Given the description of an element on the screen output the (x, y) to click on. 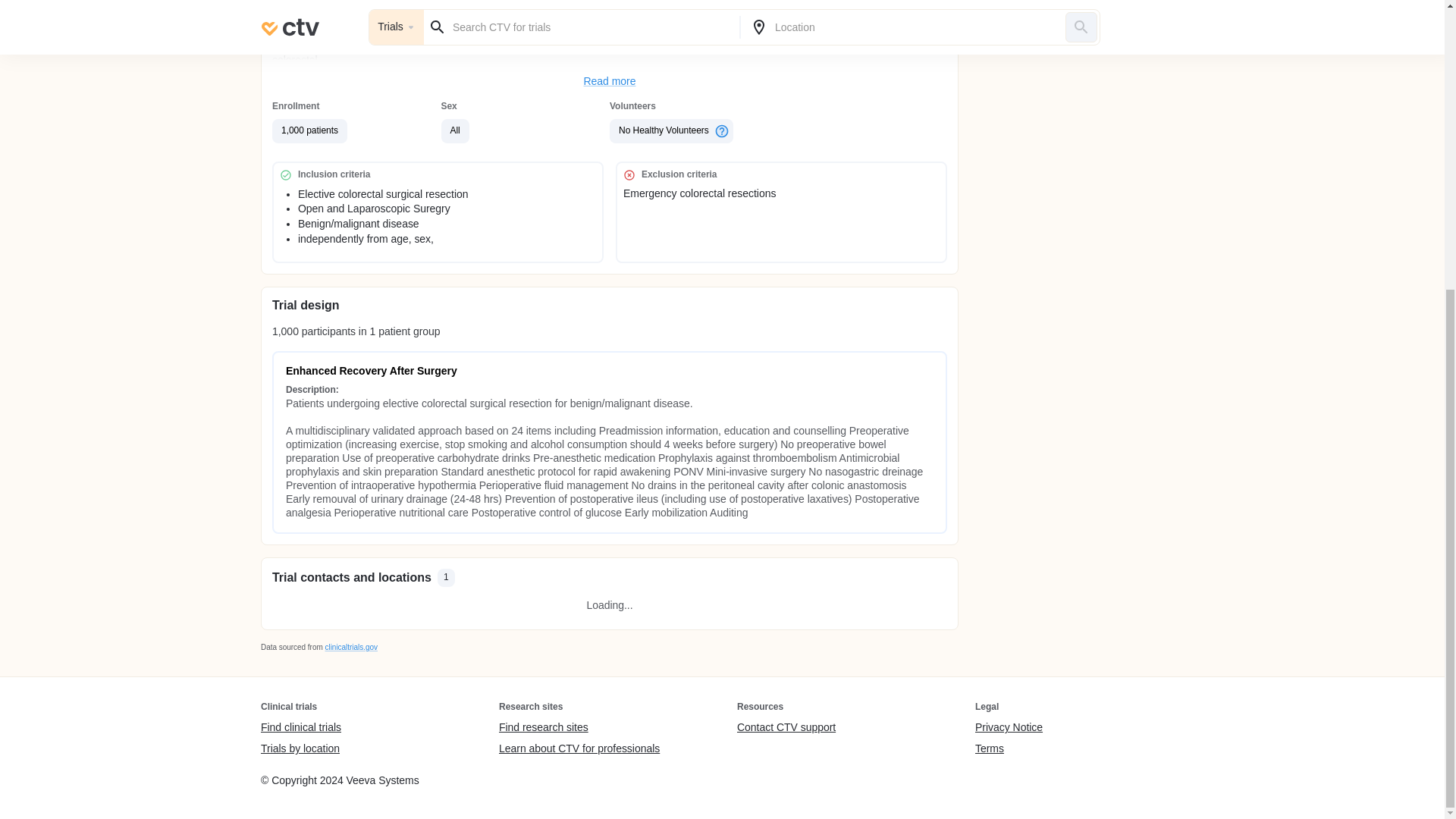
clinicaltrials.gov (350, 646)
Read more (609, 81)
Contact CTV support (785, 727)
Trials by location (300, 748)
Privacy Notice (1008, 727)
Find research sites (579, 727)
Terms (1008, 748)
Find clinical trials (300, 727)
Learn about CTV for professionals (579, 748)
